Given the description of an element on the screen output the (x, y) to click on. 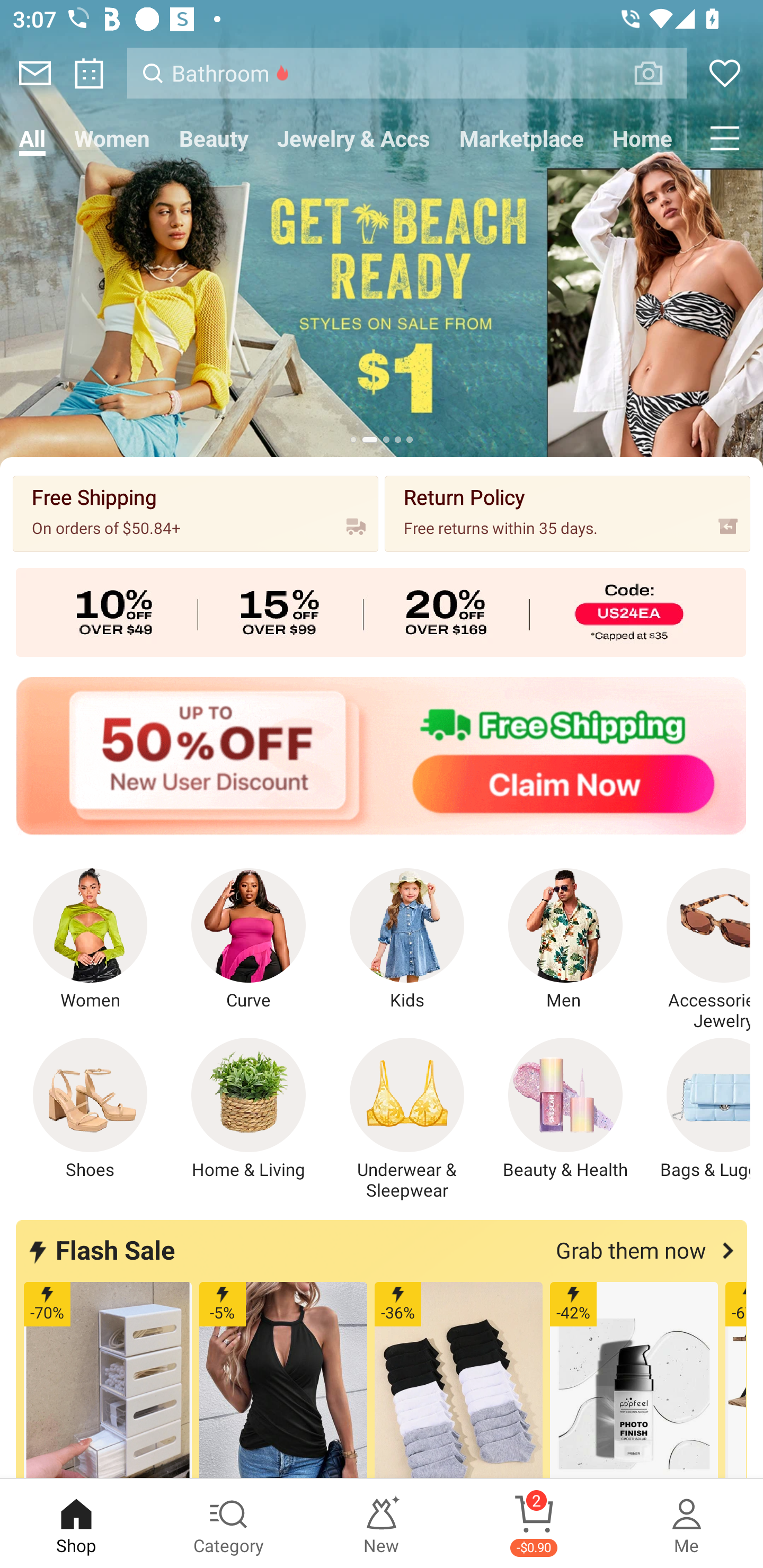
Wishlist (724, 72)
VISUAL SEARCH (657, 72)
All (31, 137)
Women (111, 137)
Beauty (213, 137)
Jewelry & Accs (353, 137)
Marketplace (521, 137)
Home (642, 137)
Free Shipping On orders of $50.84+ (195, 513)
Return Policy Free returns within 35 days. (567, 513)
Women (89, 939)
Curve (248, 939)
Kids (406, 939)
Men  (565, 939)
Accessories & Jewelry (698, 949)
Shoes (89, 1109)
Home & Living (248, 1109)
Underwear & Sleepwear (406, 1119)
Beauty & Health (565, 1109)
Bags & Luggage (698, 1109)
Category (228, 1523)
New (381, 1523)
Cart 2 -$0.90 (533, 1523)
Me (686, 1523)
